Given the description of an element on the screen output the (x, y) to click on. 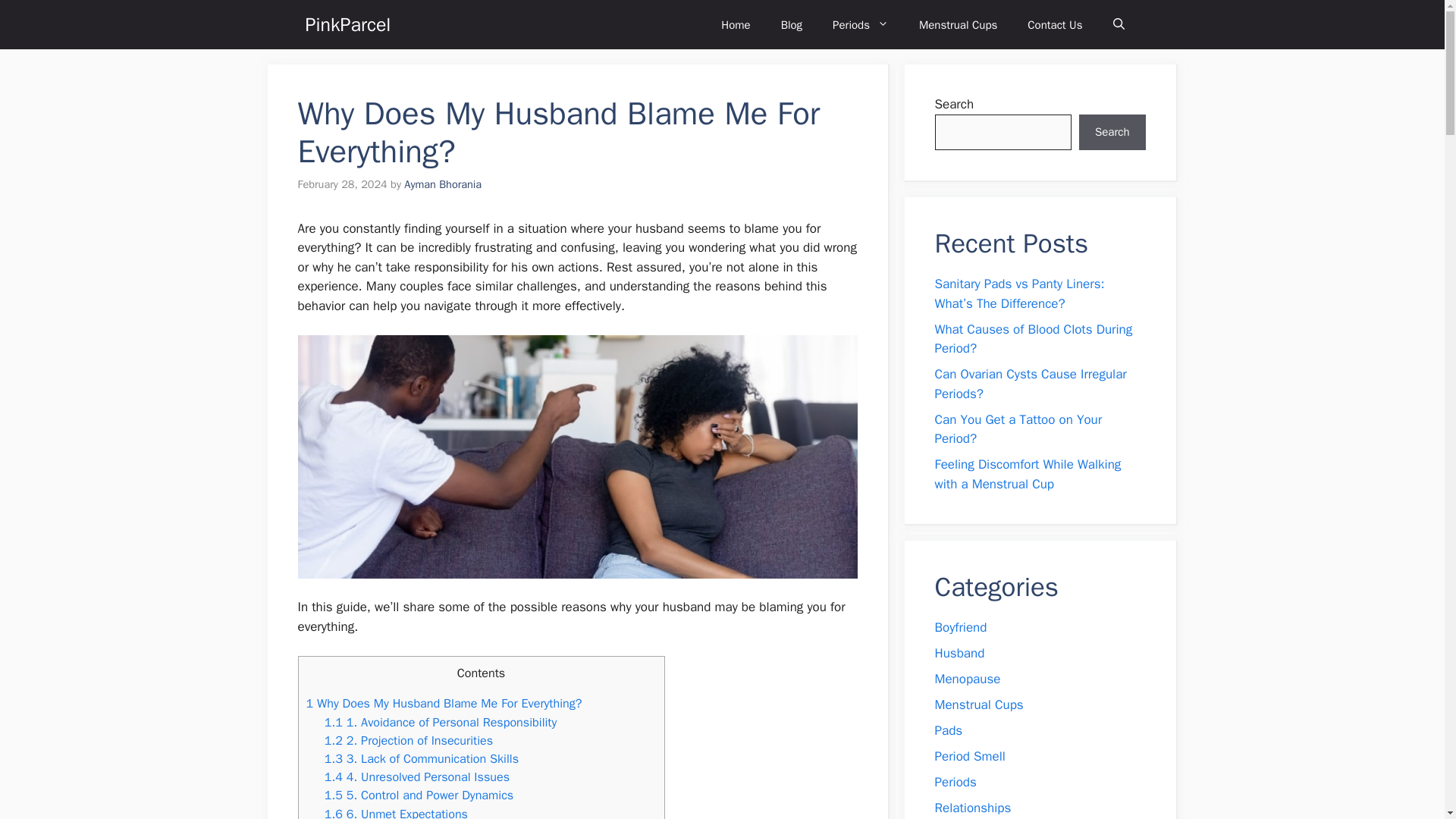
1.2 2. Projection of Insecurities (408, 740)
1 Why Does My Husband Blame Me For Everything? (443, 703)
1.6 6. Unmet Expectations (395, 812)
What Causes of Blood Clots During Period? (1033, 339)
Menstrual Cups (957, 23)
1.4 4. Unresolved Personal Issues (416, 776)
Ayman Bhorania (442, 183)
1.3 3. Lack of Communication Skills (421, 758)
1.1 1. Avoidance of Personal Responsibility (440, 722)
Periods (860, 23)
